Given the description of an element on the screen output the (x, y) to click on. 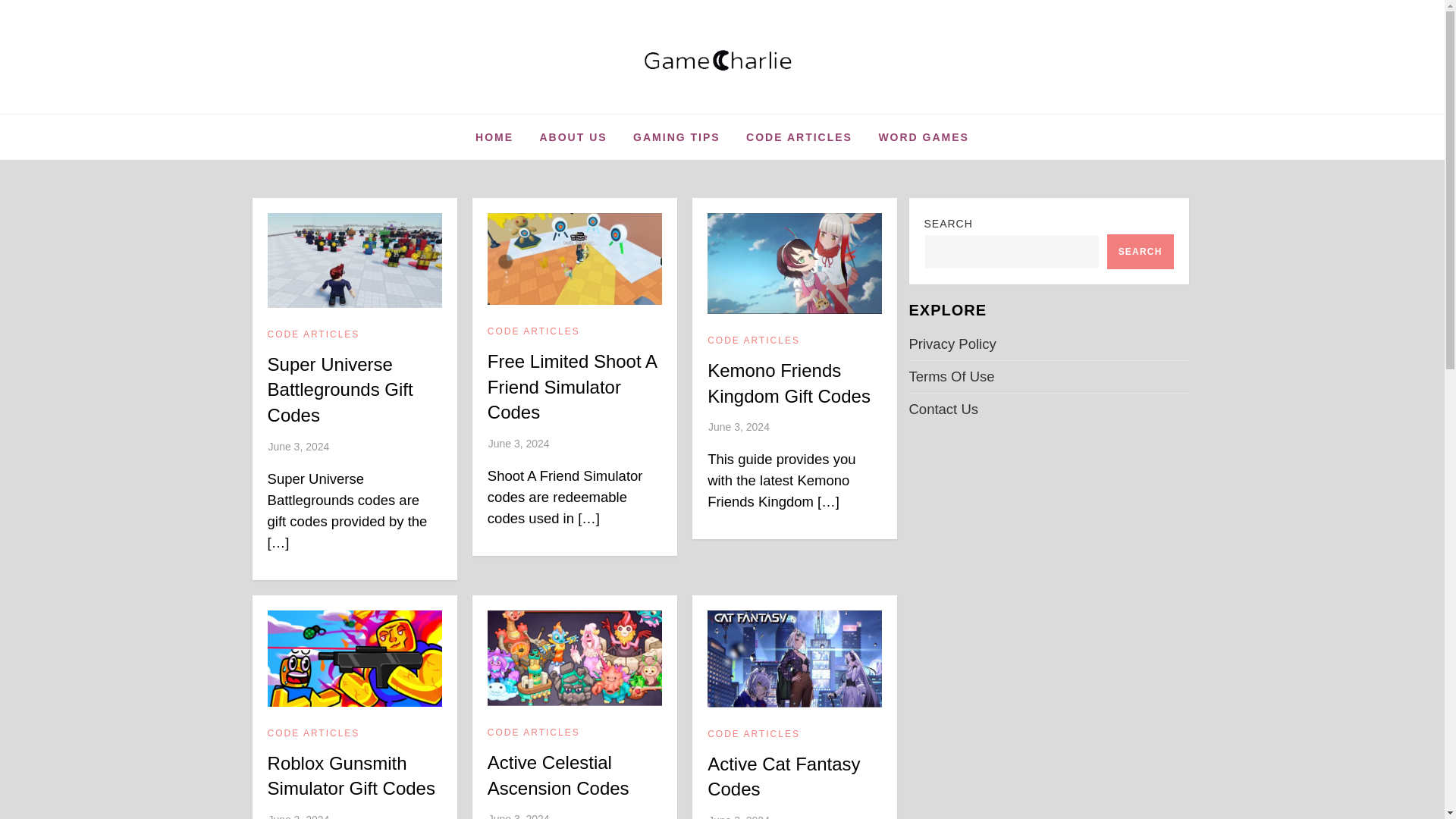
CODE ARTICLES (313, 335)
June 3, 2024 (738, 816)
Active Celestial Ascension Codes (557, 775)
June 3, 2024 (298, 816)
Free Limited Shoot A Friend Simulator Codes (571, 386)
HOME (494, 136)
Kemono Friends Kingdom Gift Codes (788, 383)
WORD GAMES (922, 136)
June 3, 2024 (518, 443)
CODE ARTICLES (799, 136)
Super Universe Battlegrounds Gift Codes (340, 389)
Active Cat Fantasy Codes (783, 776)
CODE ARTICLES (753, 734)
June 3, 2024 (298, 446)
CODE ARTICLES (313, 734)
